Given the description of an element on the screen output the (x, y) to click on. 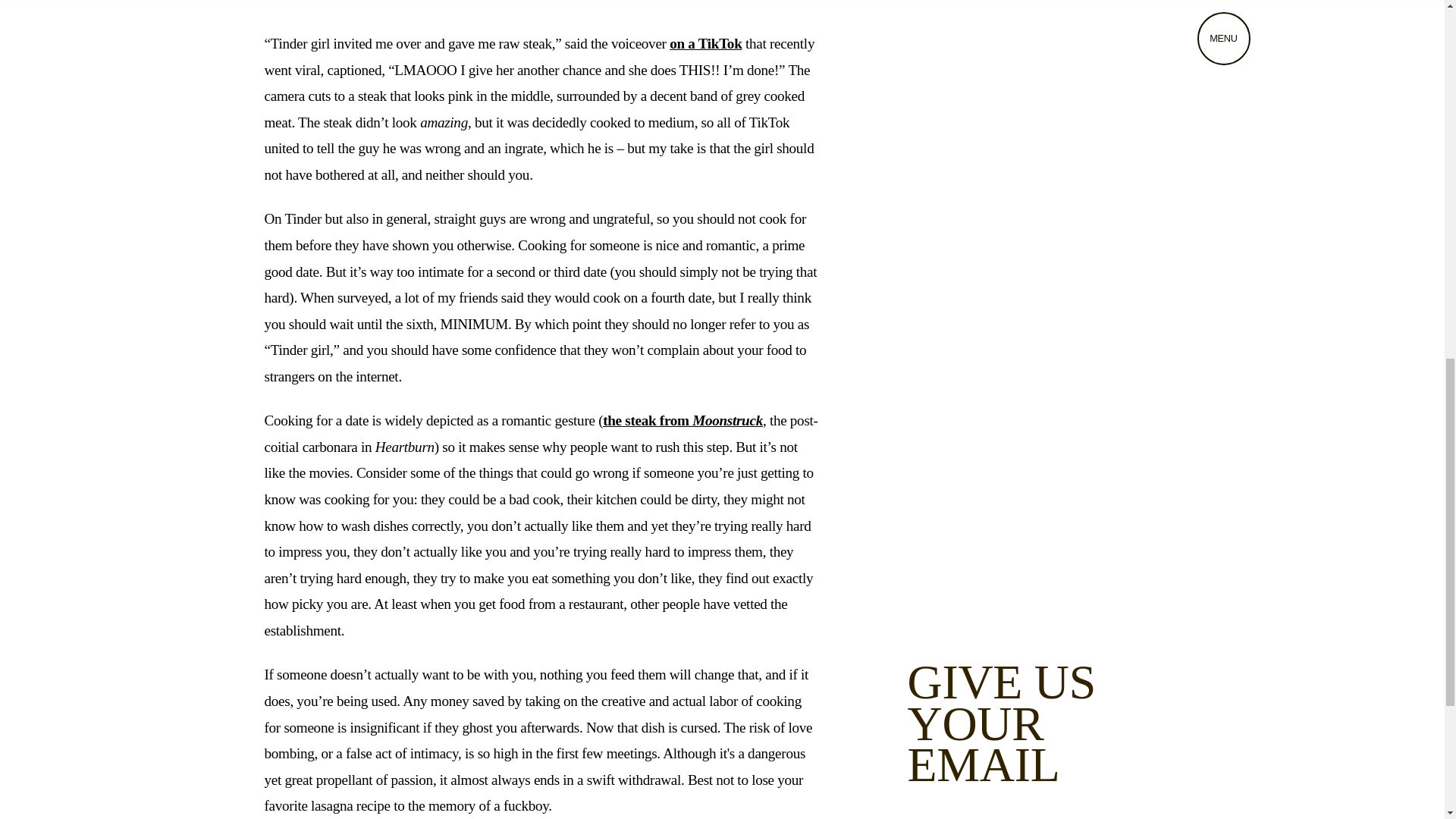
on a TikTok (705, 43)
the steak from Moonstruck (682, 420)
